Given the description of an element on the screen output the (x, y) to click on. 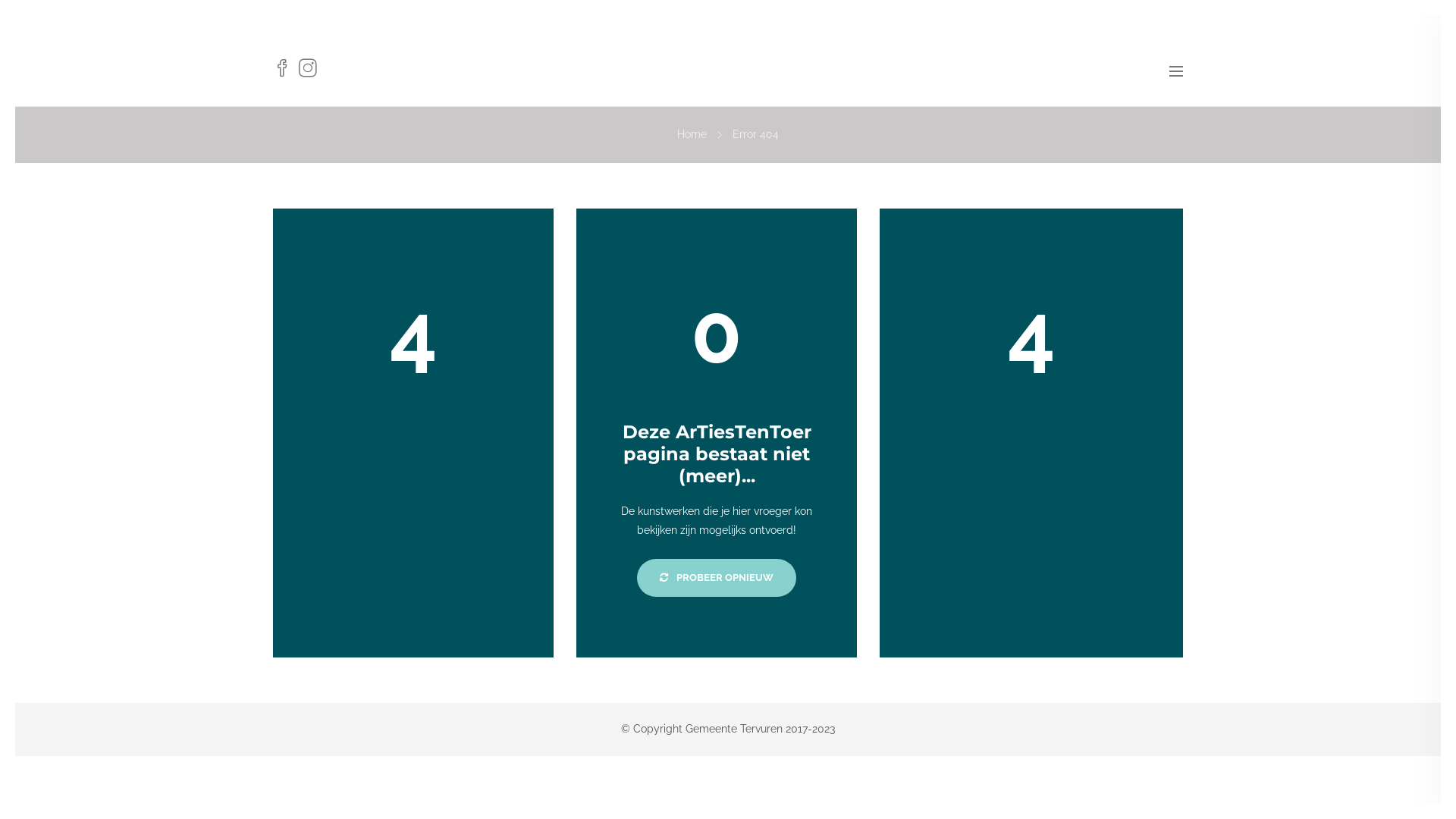
PROBEER OPNIEUW Element type: text (716, 577)
TOGGLE MENU Element type: text (1176, 58)
Home Element type: text (691, 134)
